Given the description of an element on the screen output the (x, y) to click on. 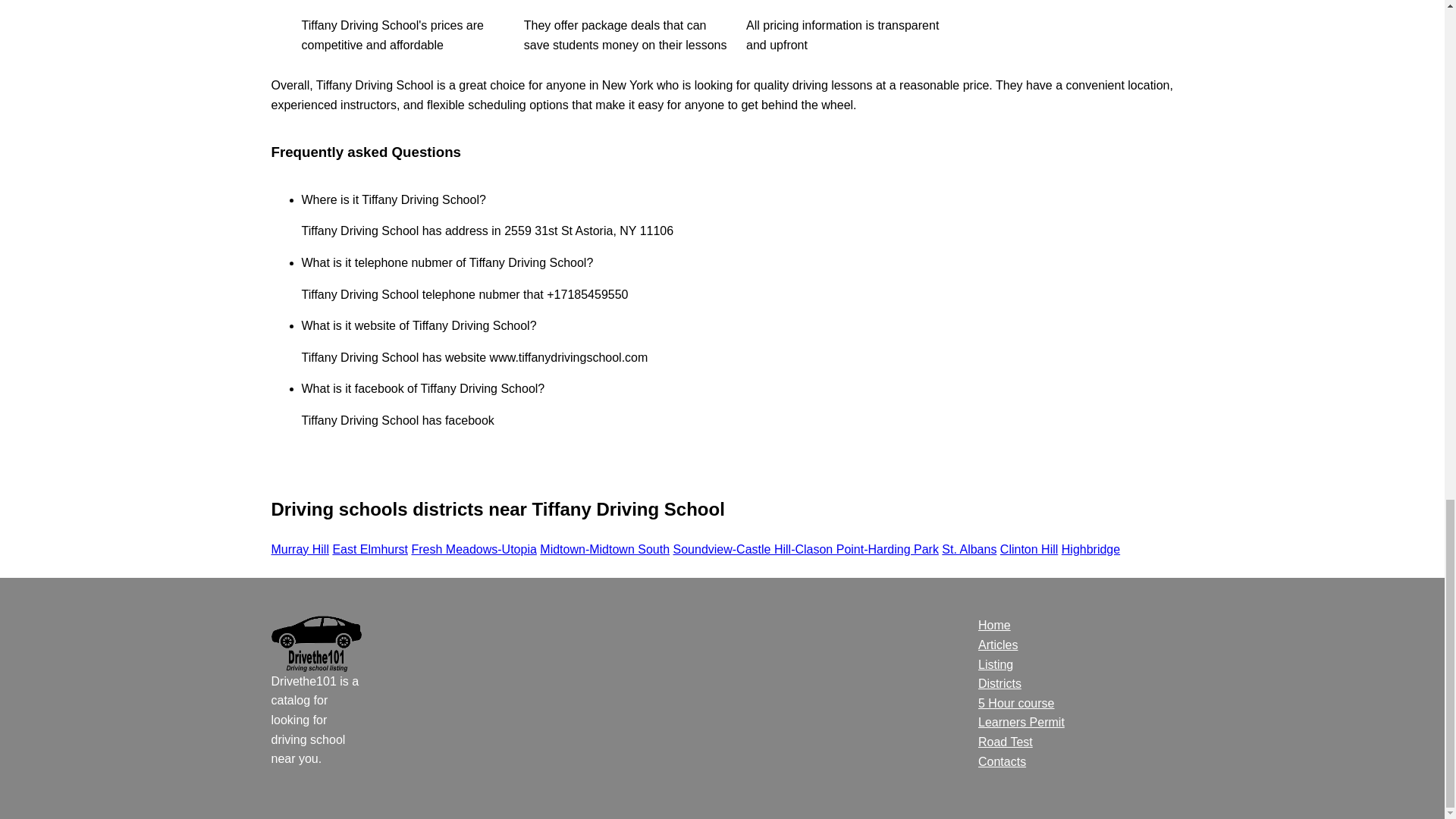
East Elmhurst (369, 549)
Articles (997, 644)
Clinton Hill (1029, 549)
5 Hour course (1016, 703)
Districts (1000, 683)
Learners Permit (1021, 721)
Road Test (1005, 741)
Listing (995, 664)
Home (994, 625)
Midtown-Midtown South (604, 549)
Soundview-Castle Hill-Clason Point-Harding Park (805, 549)
St. Albans (968, 549)
Contacts (1002, 761)
Highbridge (1090, 549)
Murray Hill (299, 549)
